Given the description of an element on the screen output the (x, y) to click on. 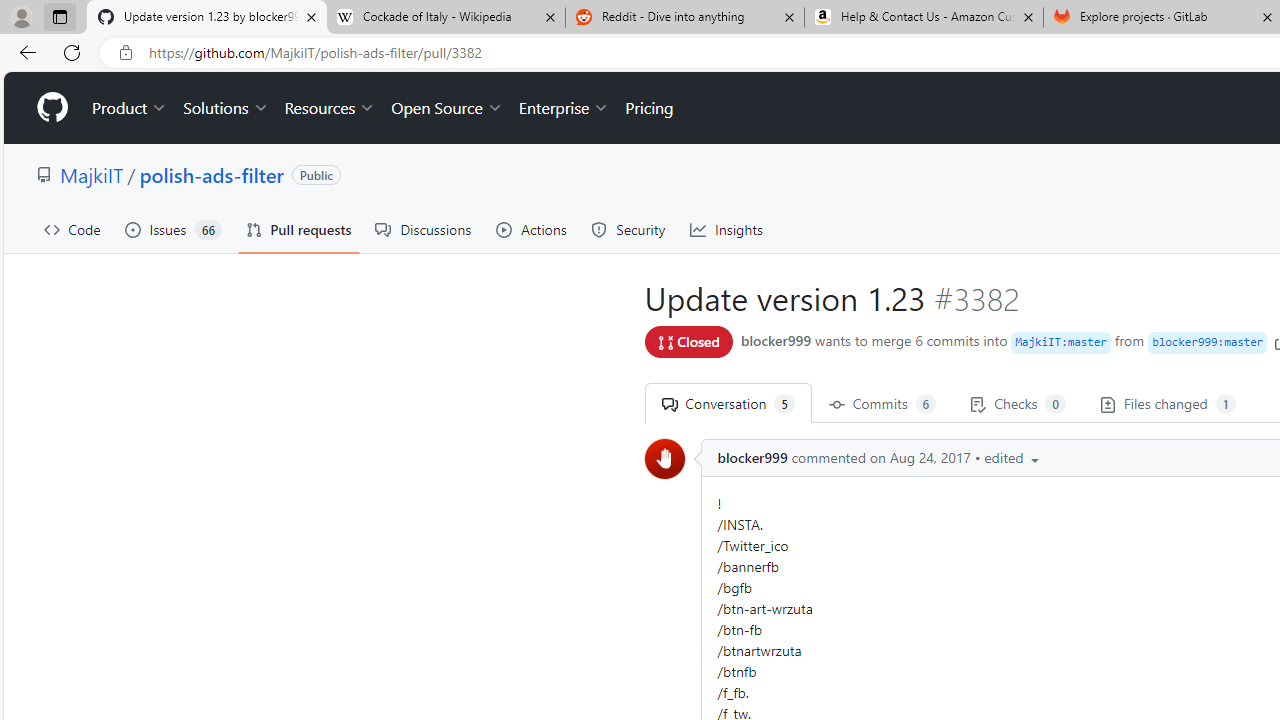
Pull requests (298, 229)
polish-ads-filter (211, 174)
Code (71, 229)
Insights (726, 229)
MajkiIT : master (1061, 342)
Security (628, 229)
on Aug 24, 2017 (920, 457)
Pull requests (298, 229)
Discussions (424, 229)
Open Source (446, 107)
Discussions (424, 229)
Enterprise (563, 107)
